Given the description of an element on the screen output the (x, y) to click on. 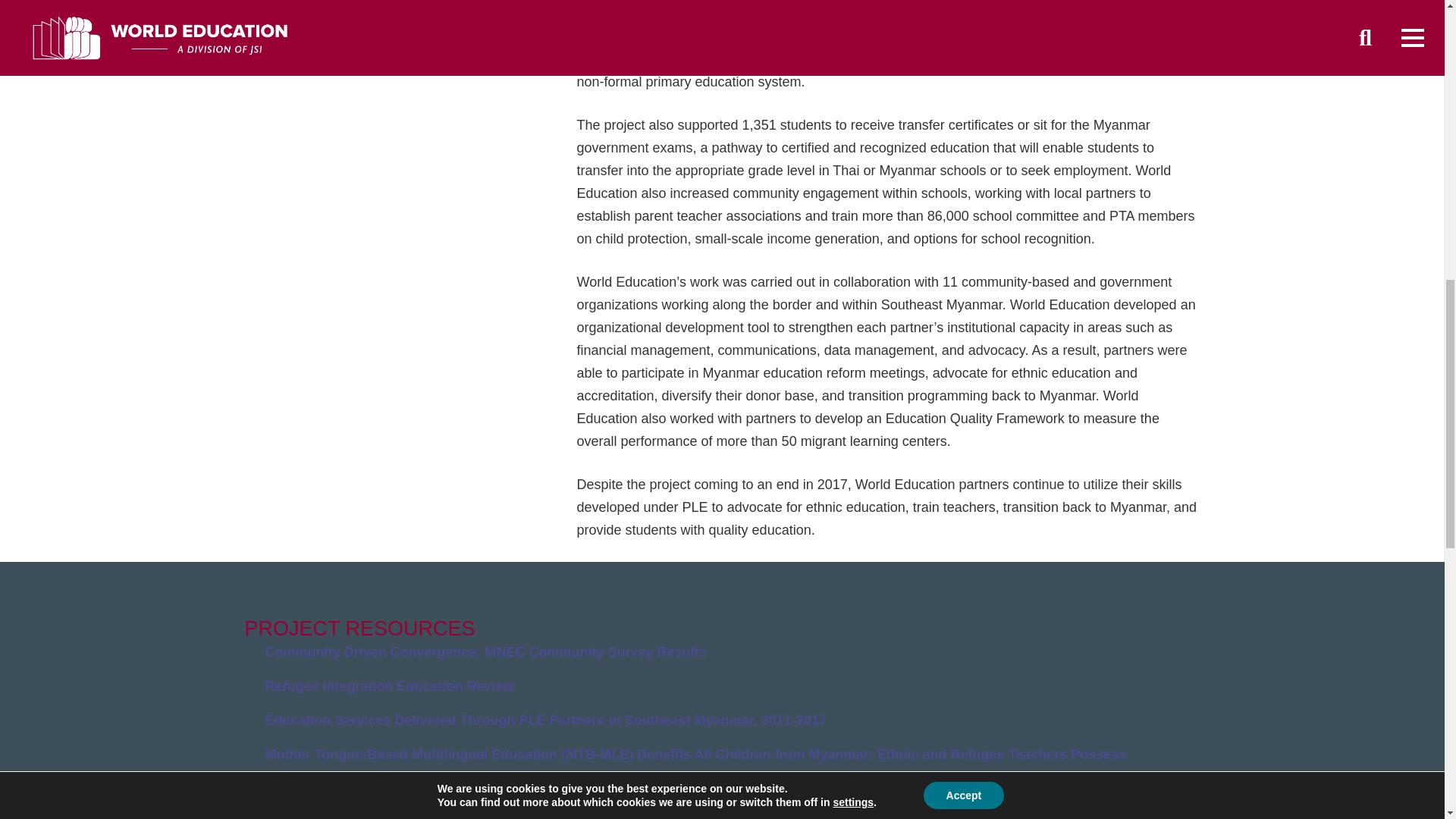
Back to top (1413, 26)
